Given the description of an element on the screen output the (x, y) to click on. 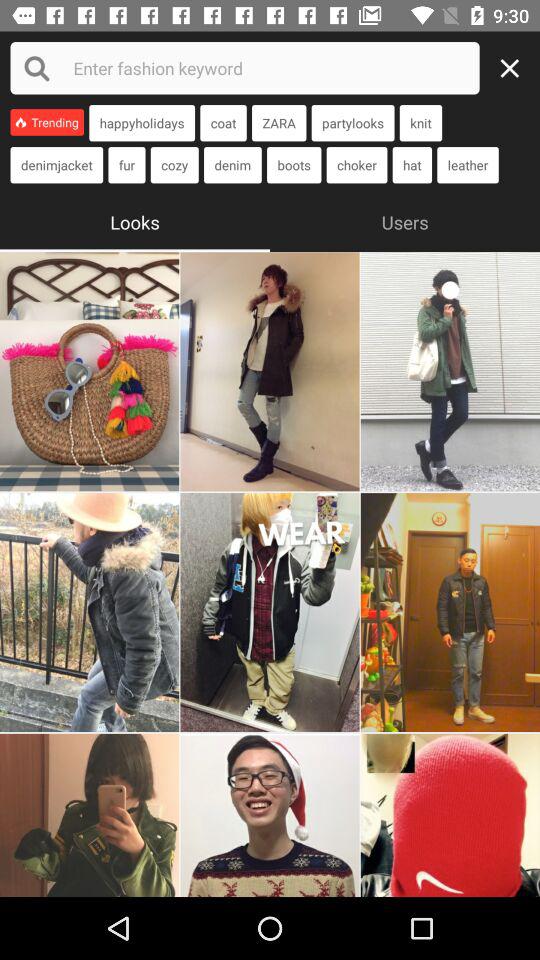
go to image (269, 815)
